Given the description of an element on the screen output the (x, y) to click on. 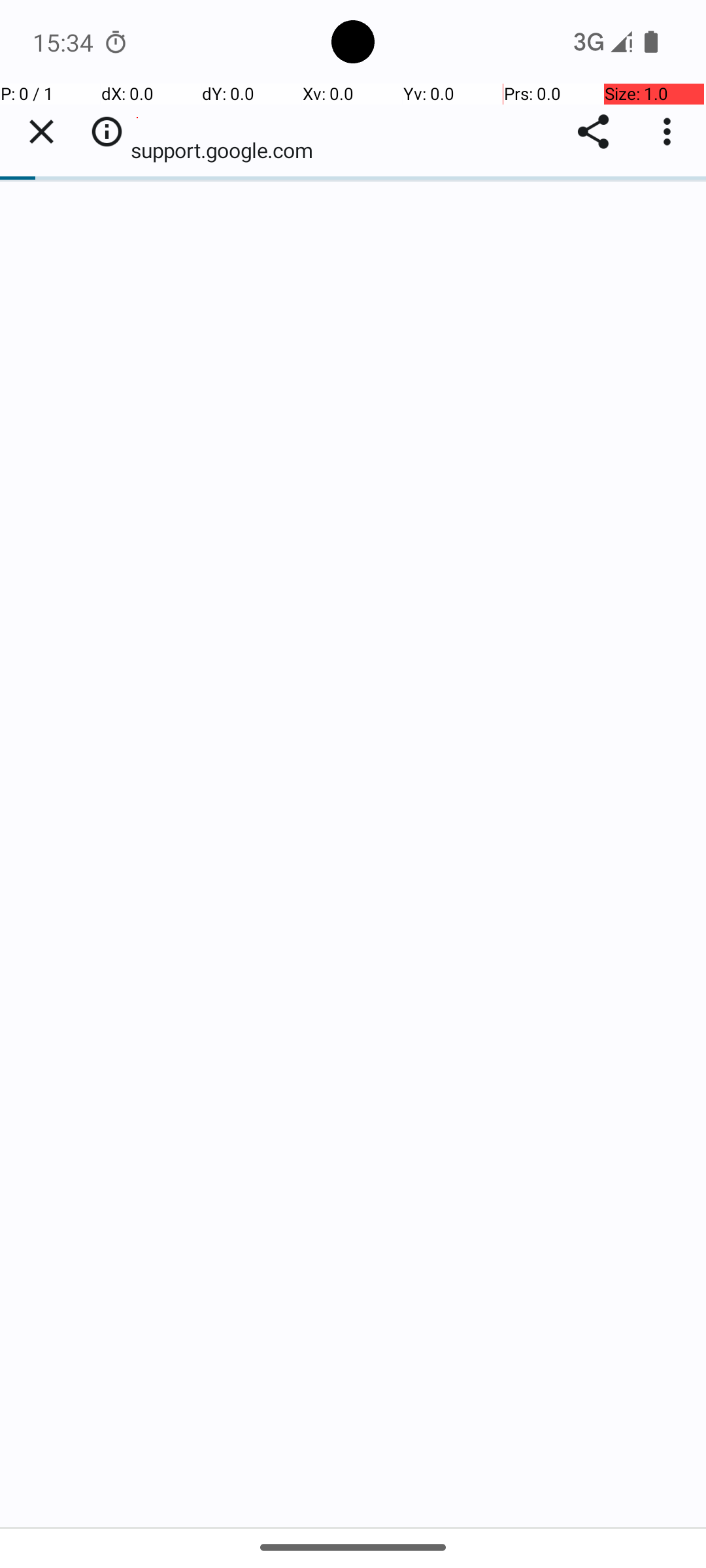
support.google.com Element type: android.widget.TextView (228, 149)
